Given the description of an element on the screen output the (x, y) to click on. 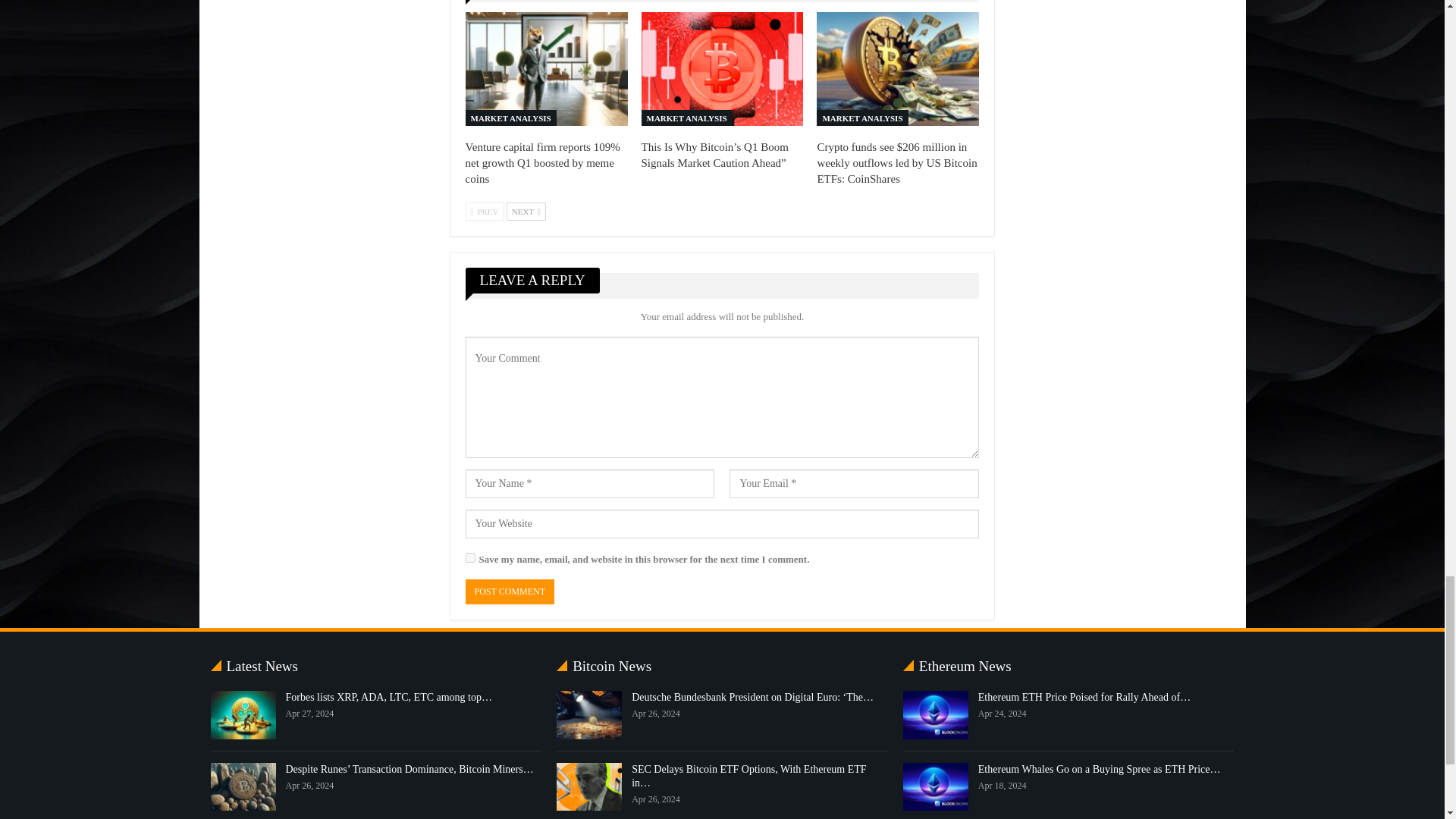
Post Comment (509, 591)
yes (470, 557)
